Given the description of an element on the screen output the (x, y) to click on. 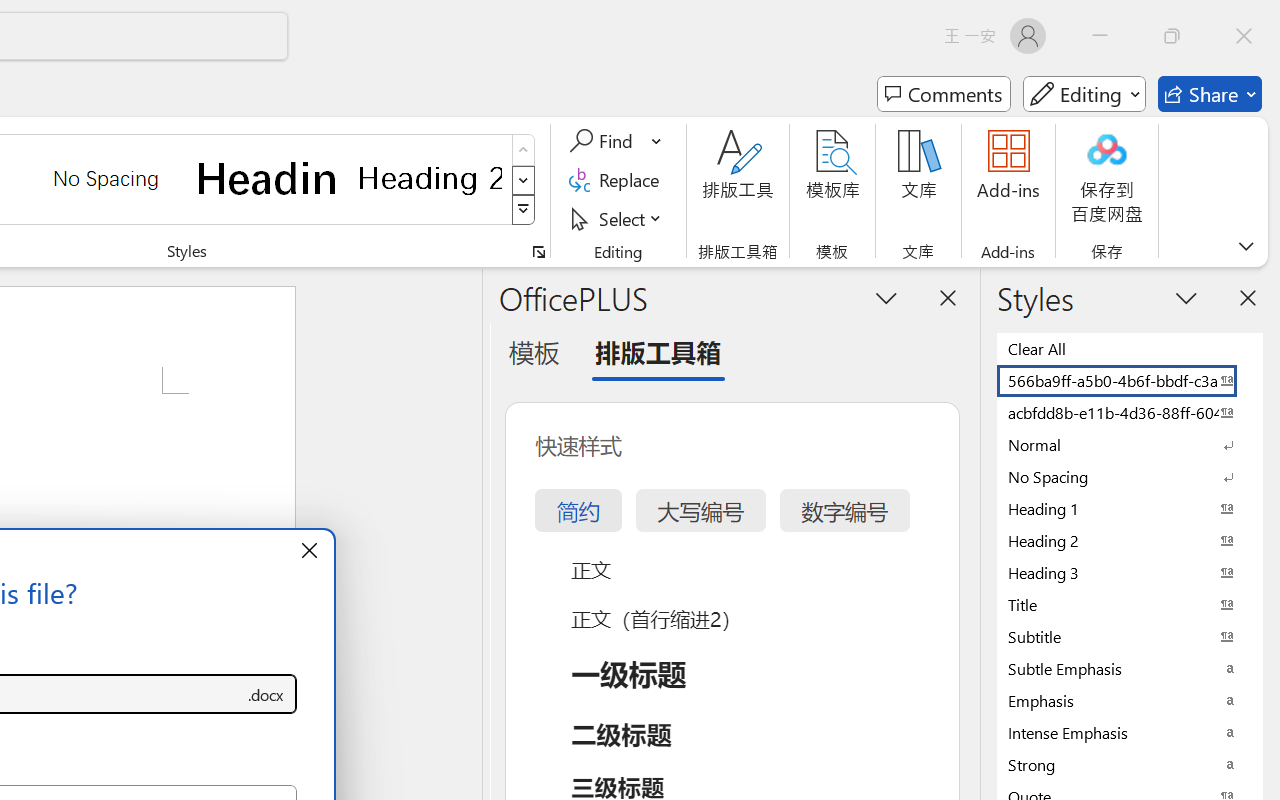
Clear All (1130, 348)
Comments (943, 94)
Minimize (1099, 36)
Restore Down (1172, 36)
Normal (1130, 444)
Find (616, 141)
Subtle Emphasis (1130, 668)
Heading 3 (1130, 572)
Emphasis (1130, 700)
Mode (1083, 94)
566ba9ff-a5b0-4b6f-bbdf-c3ab41993fc2 (1130, 380)
